Given the description of an element on the screen output the (x, y) to click on. 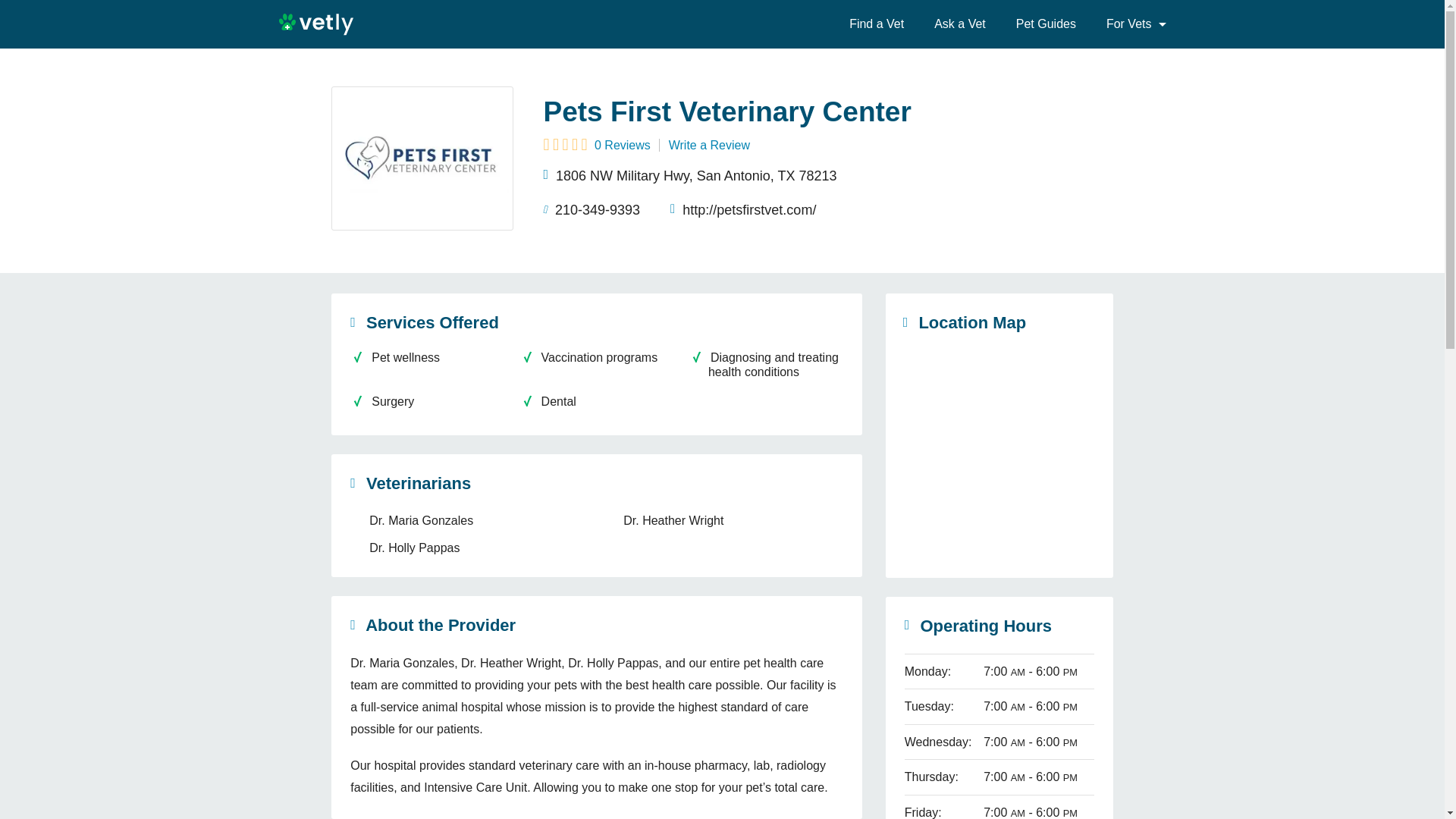
Find a Vet (876, 24)
No rating (564, 145)
For Vets (1130, 24)
     0 Reviews (596, 144)
Write a Review (708, 144)
210-349-9393 (591, 209)
Pet Guides (1045, 24)
Ask a Vet (959, 24)
